Given the description of an element on the screen output the (x, y) to click on. 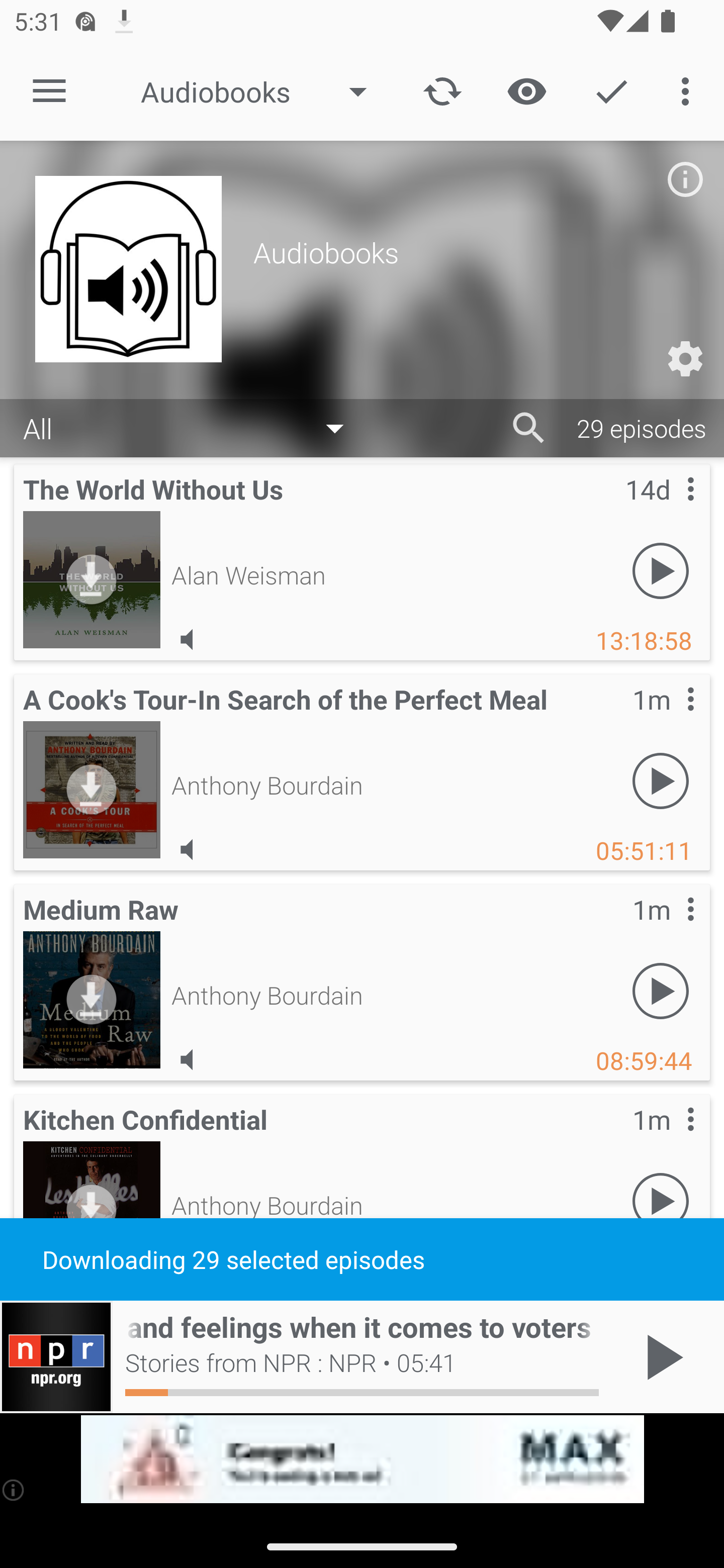
Open navigation sidebar (49, 91)
Update (442, 90)
Show / Hide played content (526, 90)
Action Mode (611, 90)
More options (688, 90)
Audiobooks (263, 91)
Podcast description (685, 179)
Custom Settings (685, 358)
Search (528, 428)
All (192, 428)
Contextual menu (668, 508)
The World Without Us (91, 579)
Play (660, 571)
Contextual menu (668, 718)
A Cook's Tour-In Search of the Perfect Meal (91, 789)
Play (660, 780)
Contextual menu (668, 928)
Medium Raw (91, 999)
Play (660, 990)
Contextual menu (668, 1138)
Kitchen Confidential (91, 1209)
Play (660, 1200)
Play / Pause (660, 1356)
app-monetization (362, 1459)
(i) (14, 1489)
